Given the description of an element on the screen output the (x, y) to click on. 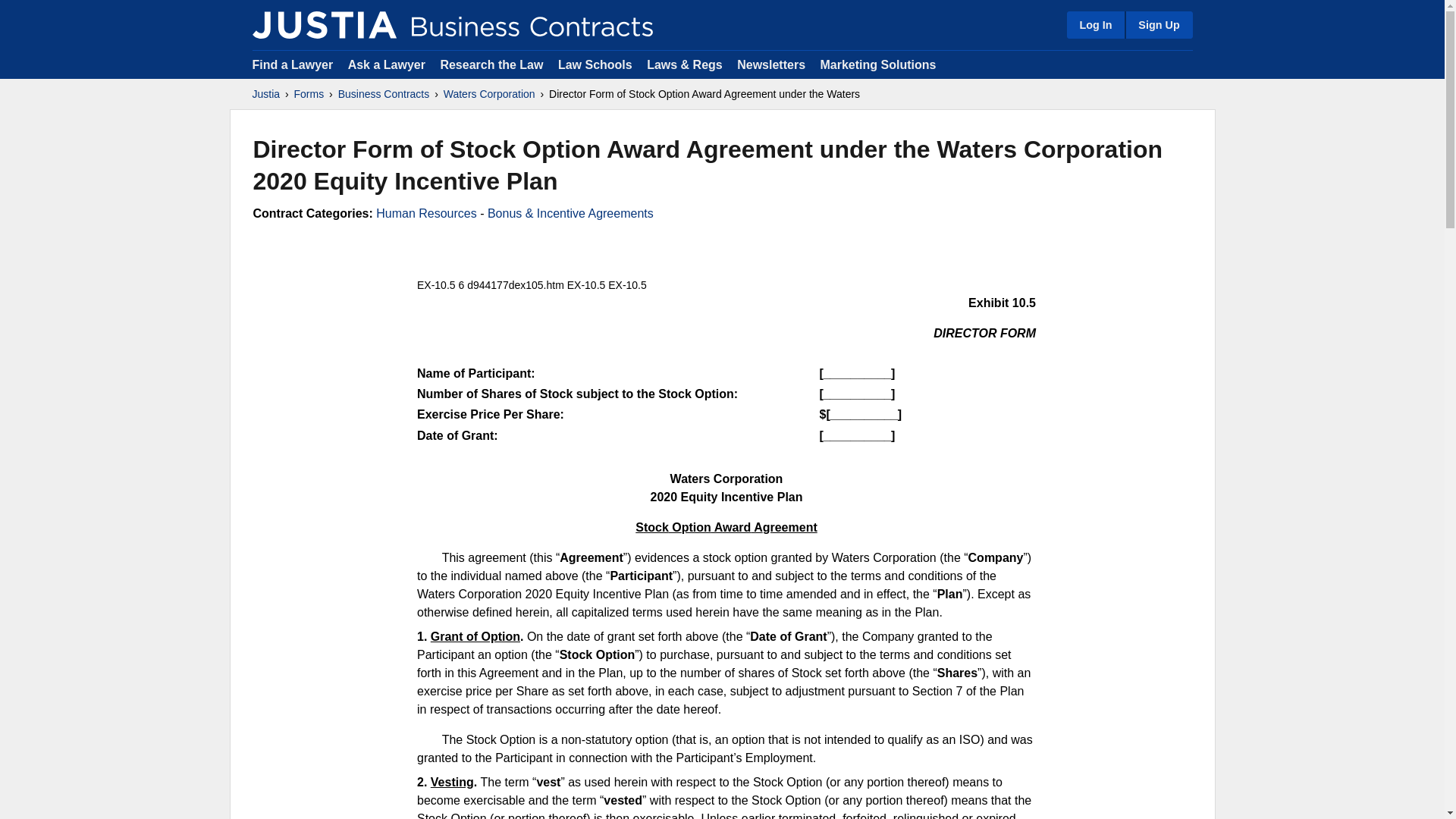
Waters Corporation (489, 93)
Business Contracts (383, 93)
Find a Lawyer (292, 64)
Sign Up (1158, 24)
Log In (1094, 24)
Marketing Solutions (877, 64)
Research the Law (491, 64)
Justia (265, 93)
Ask a Lawyer (388, 64)
Justia (323, 24)
Law Schools (594, 64)
Forms (309, 93)
Human Resources (426, 213)
Newsletters (770, 64)
